Given the description of an element on the screen output the (x, y) to click on. 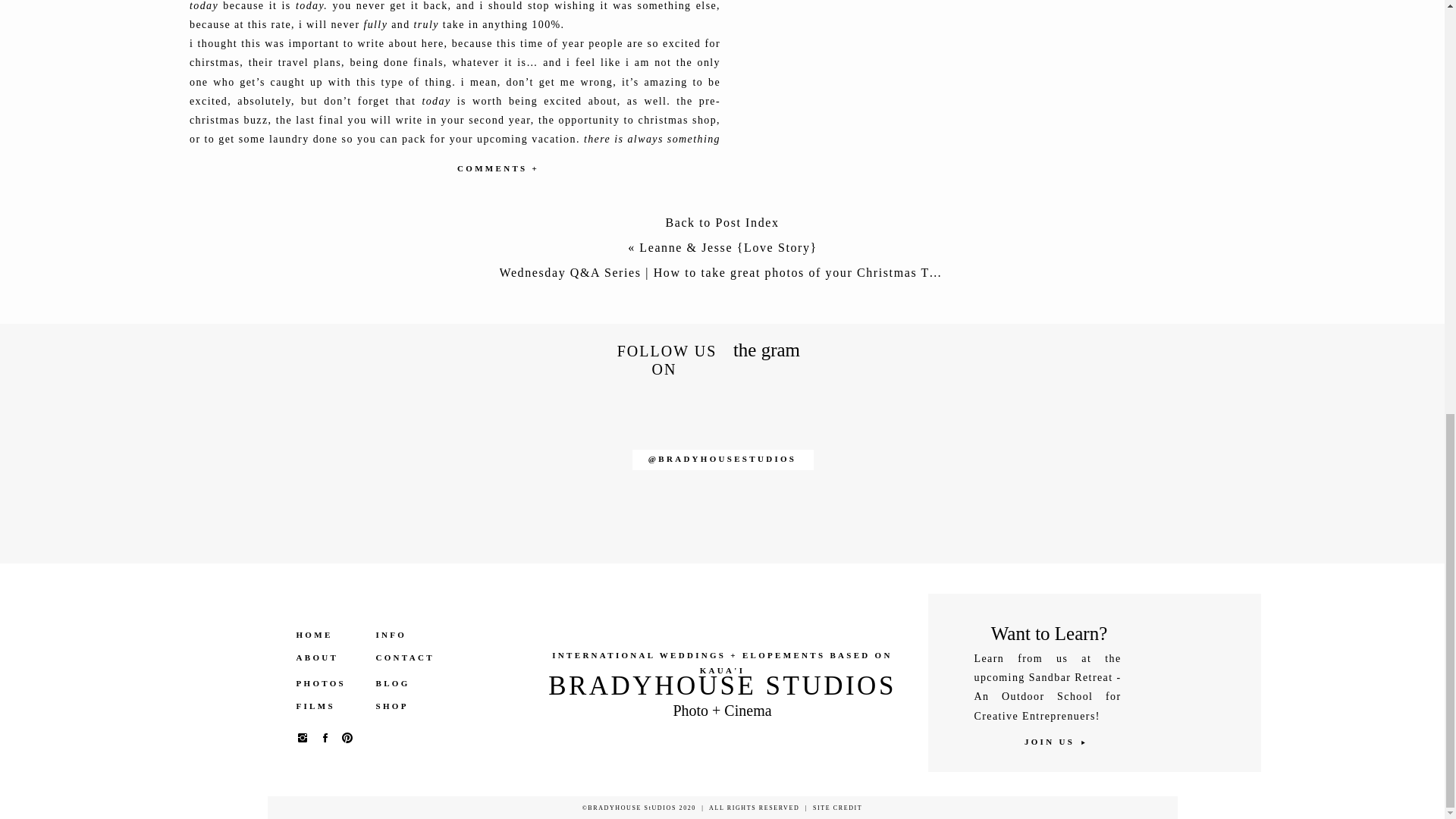
PHOTOS (327, 683)
HOME (327, 635)
Back to Post Index (721, 226)
ABOUT (327, 657)
FILMS (327, 706)
INFO (400, 635)
